Given the description of an element on the screen output the (x, y) to click on. 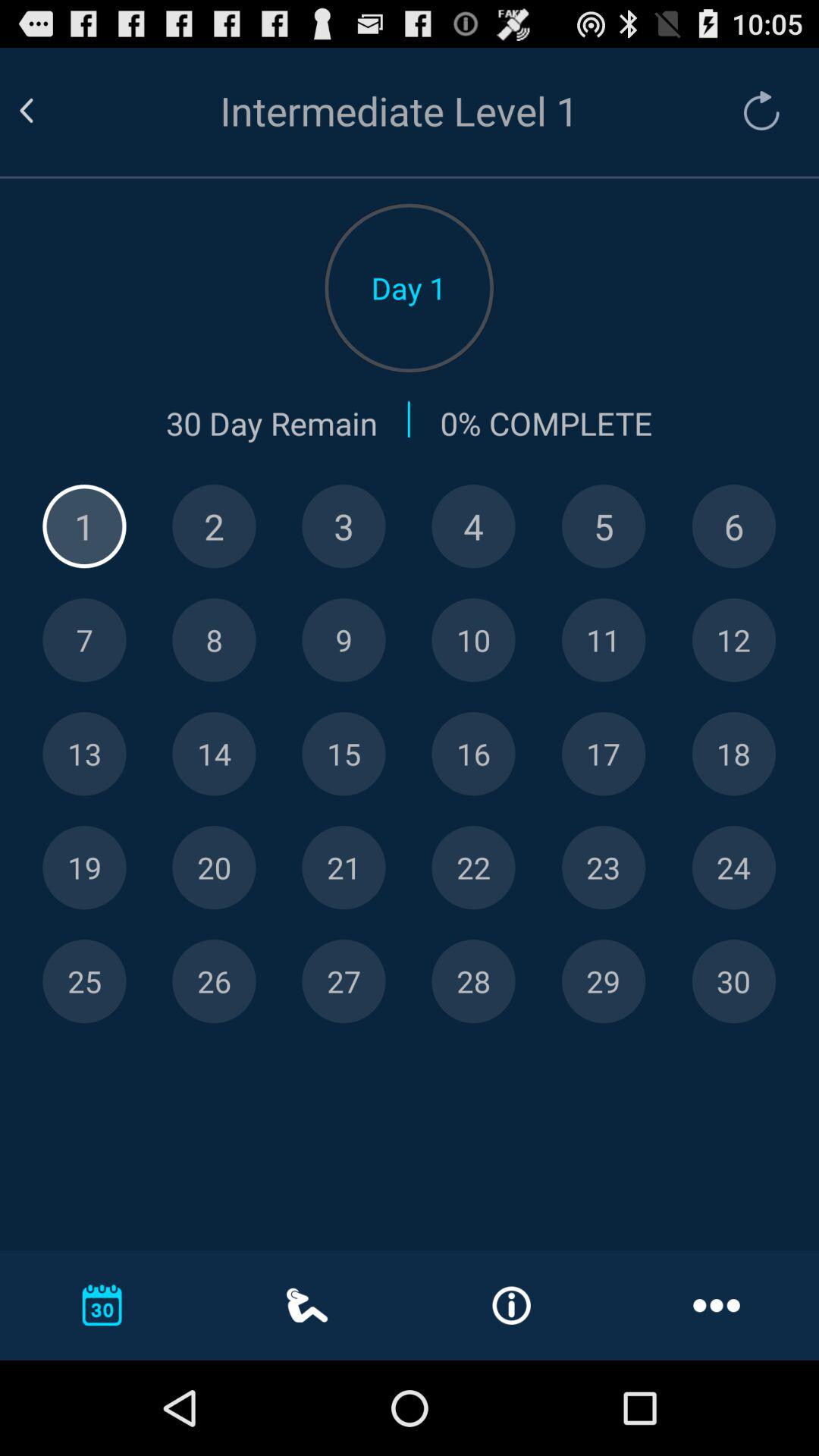
day 6 selection (733, 526)
